Given the description of an element on the screen output the (x, y) to click on. 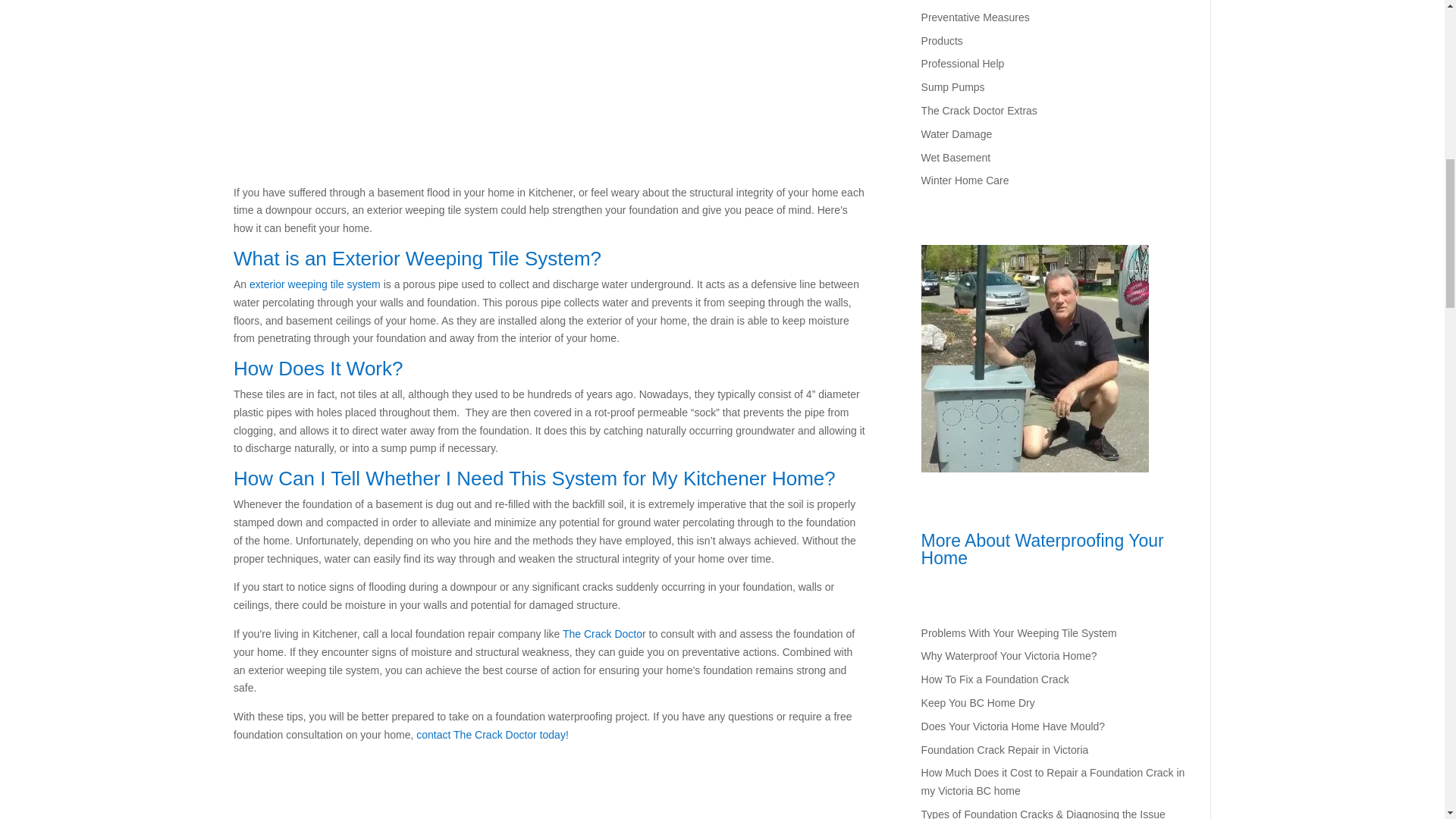
The Crack Docto (602, 633)
exterior weeping tile system (314, 284)
what-is-a-french-drain-and-why-do-i-need-one (549, 78)
contact The Crack Doctor today! (492, 734)
